Given the description of an element on the screen output the (x, y) to click on. 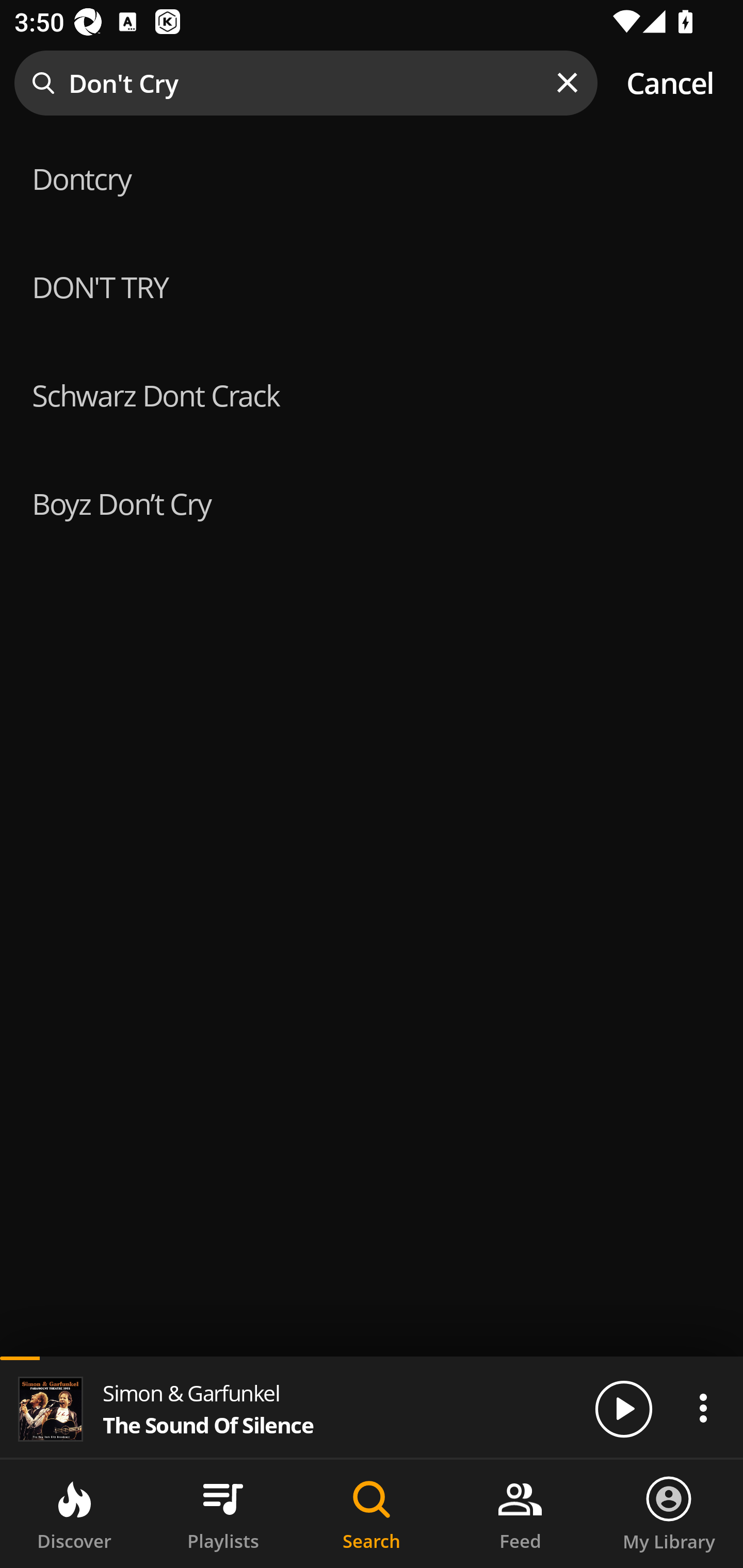
Don't Cry Cancel (371, 82)
Cancel (670, 82)
Dontcry (371, 176)
Schwarz Dont Crack (371, 393)
Boyz Don’t Cry (371, 502)
Actions (703, 1407)
Play/Pause (623, 1408)
Discover (74, 1513)
Playlists (222, 1513)
Search (371, 1513)
Feed (519, 1513)
My Library (668, 1513)
